Given the description of an element on the screen output the (x, y) to click on. 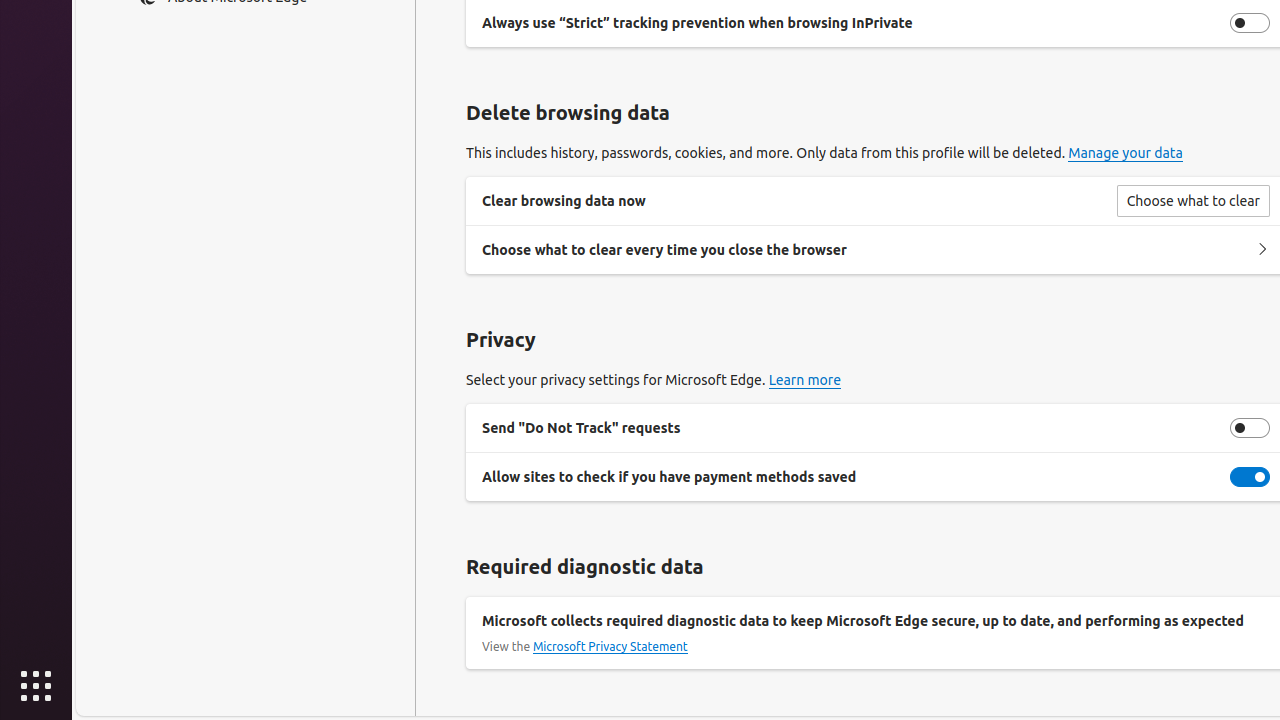
Microsoft Privacy Statement Element type: link (610, 647)
Manage your data Element type: link (1125, 153)
Show Applications Element type: toggle-button (36, 686)
Learn more about privacy settings for Microsoft Edge Element type: link (805, 380)
Send "Do Not Track" requests Element type: check-box (1250, 427)
